Given the description of an element on the screen output the (x, y) to click on. 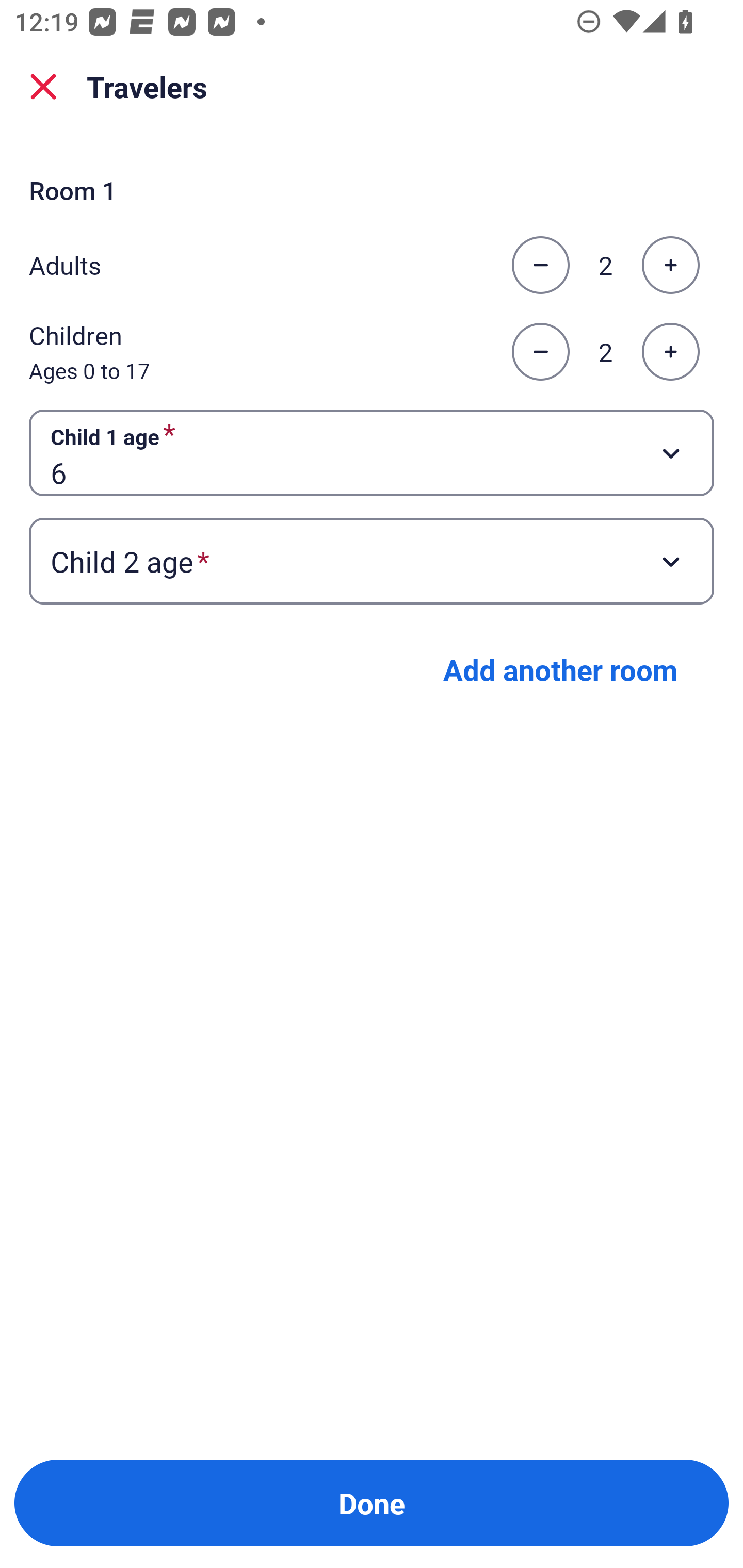
close (43, 86)
Decrease the number of adults (540, 264)
Increase the number of adults (670, 264)
Decrease the number of children (540, 351)
Increase the number of children (670, 351)
Child 1 age required Button 6 (371, 452)
Child 2 age required Button (371, 561)
Add another room (560, 669)
Done (371, 1502)
